Given the description of an element on the screen output the (x, y) to click on. 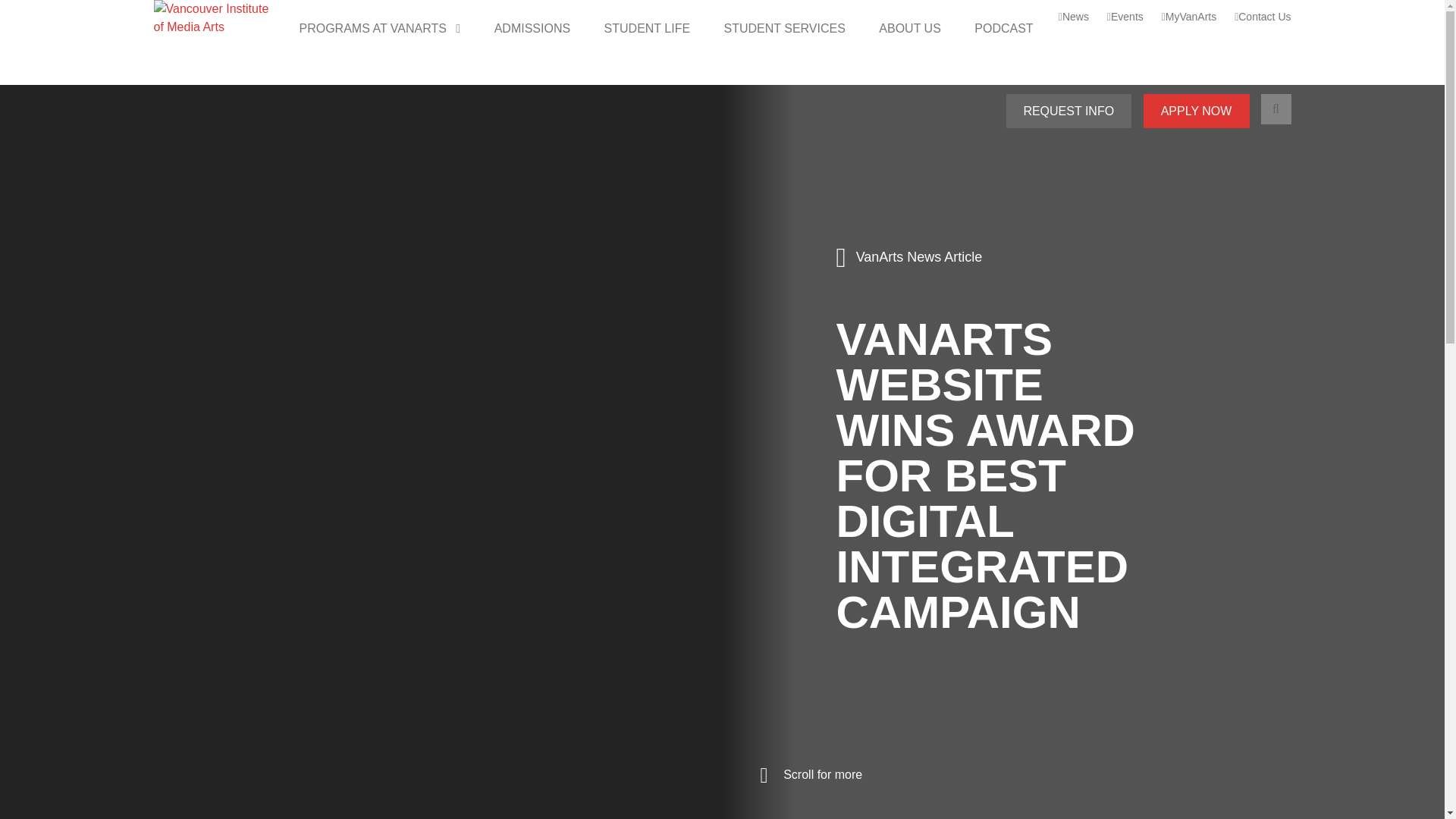
PODCAST (1003, 28)
ADMISSIONS (532, 28)
MyVanArts (1189, 17)
ABOUT US (909, 28)
Contact Us (1262, 17)
APPLY NOW (1195, 110)
REQUEST INFO (1068, 110)
STUDENT SERVICES (784, 28)
vanarts-logo  (209, 18)
News (1073, 17)
PROGRAMS AT VANARTS (379, 28)
Scroll for more (810, 775)
STUDENT LIFE (647, 28)
Events (1125, 17)
